Given the description of an element on the screen output the (x, y) to click on. 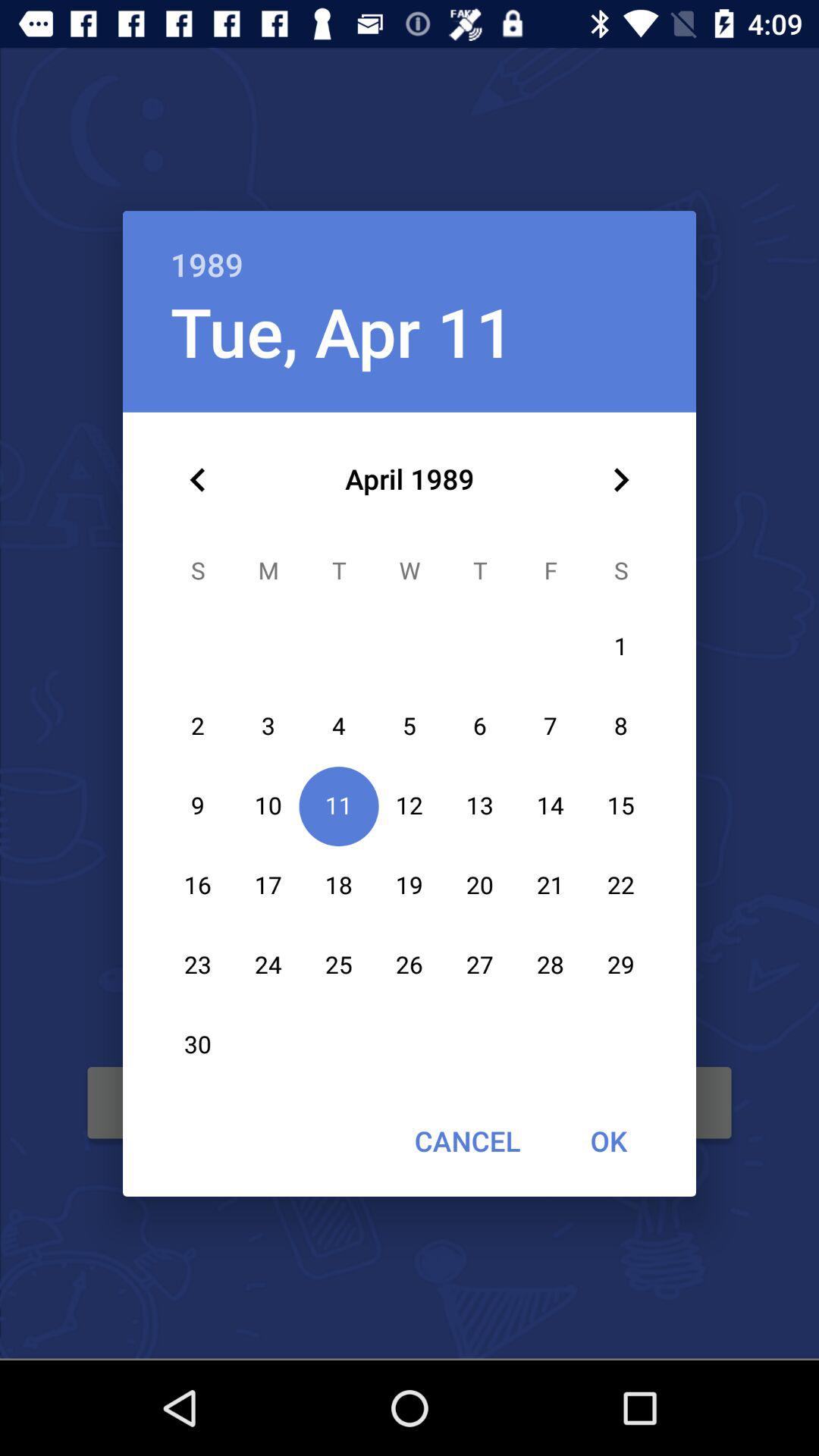
flip until cancel icon (467, 1140)
